Given the description of an element on the screen output the (x, y) to click on. 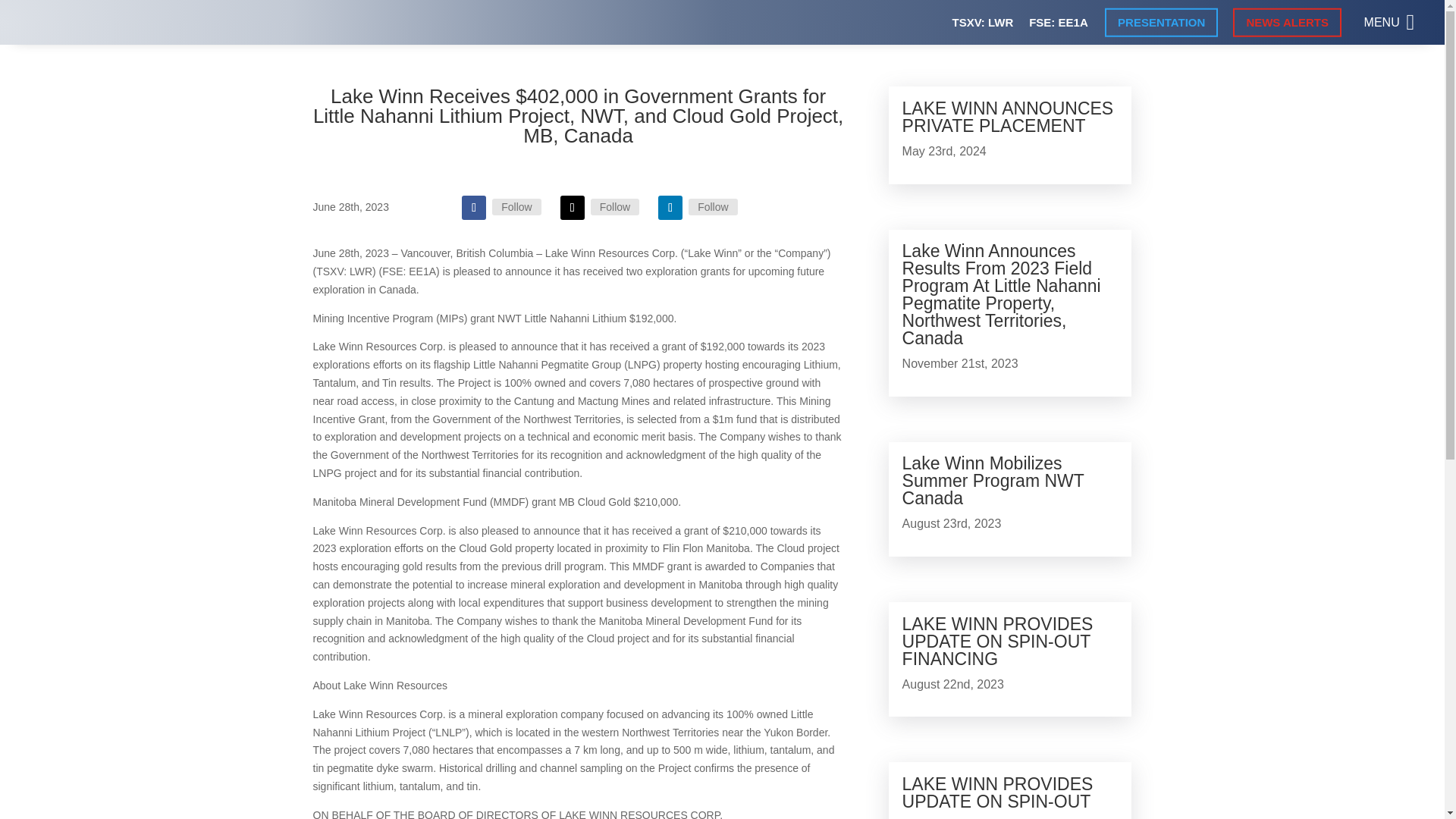
NEWS ALERTS (1286, 21)
Follow (572, 207)
PRESENTATION (1161, 21)
Follow (670, 207)
X (615, 207)
Follow on X (572, 207)
LAKE WINN ANNOUNCES PRIVATE PLACEMENT (1007, 116)
Follow (473, 207)
Follow on Facebook (473, 207)
